Given the description of an element on the screen output the (x, y) to click on. 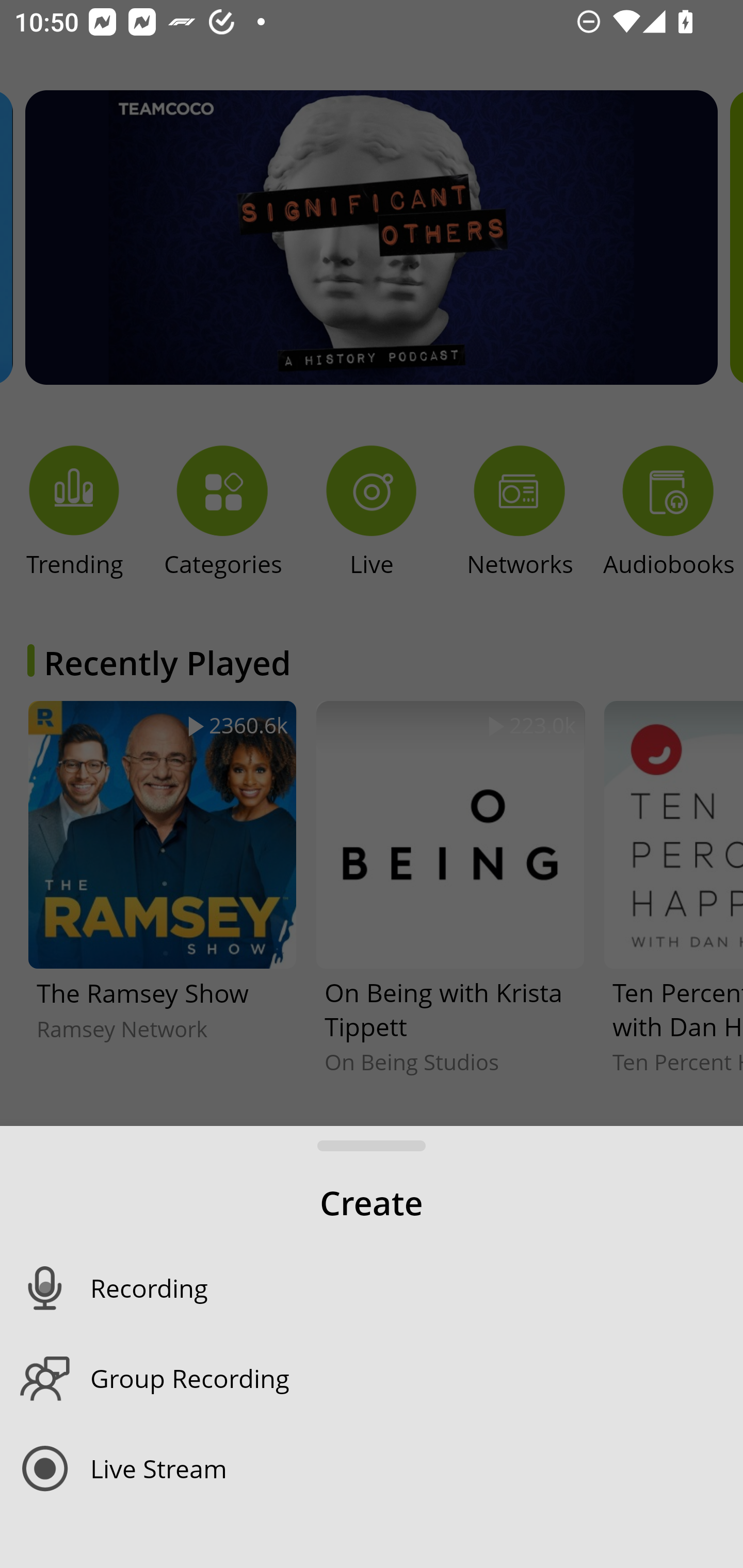
Recording (416, 1287)
Group Recording (416, 1377)
Live Stream (416, 1468)
